Given the description of an element on the screen output the (x, y) to click on. 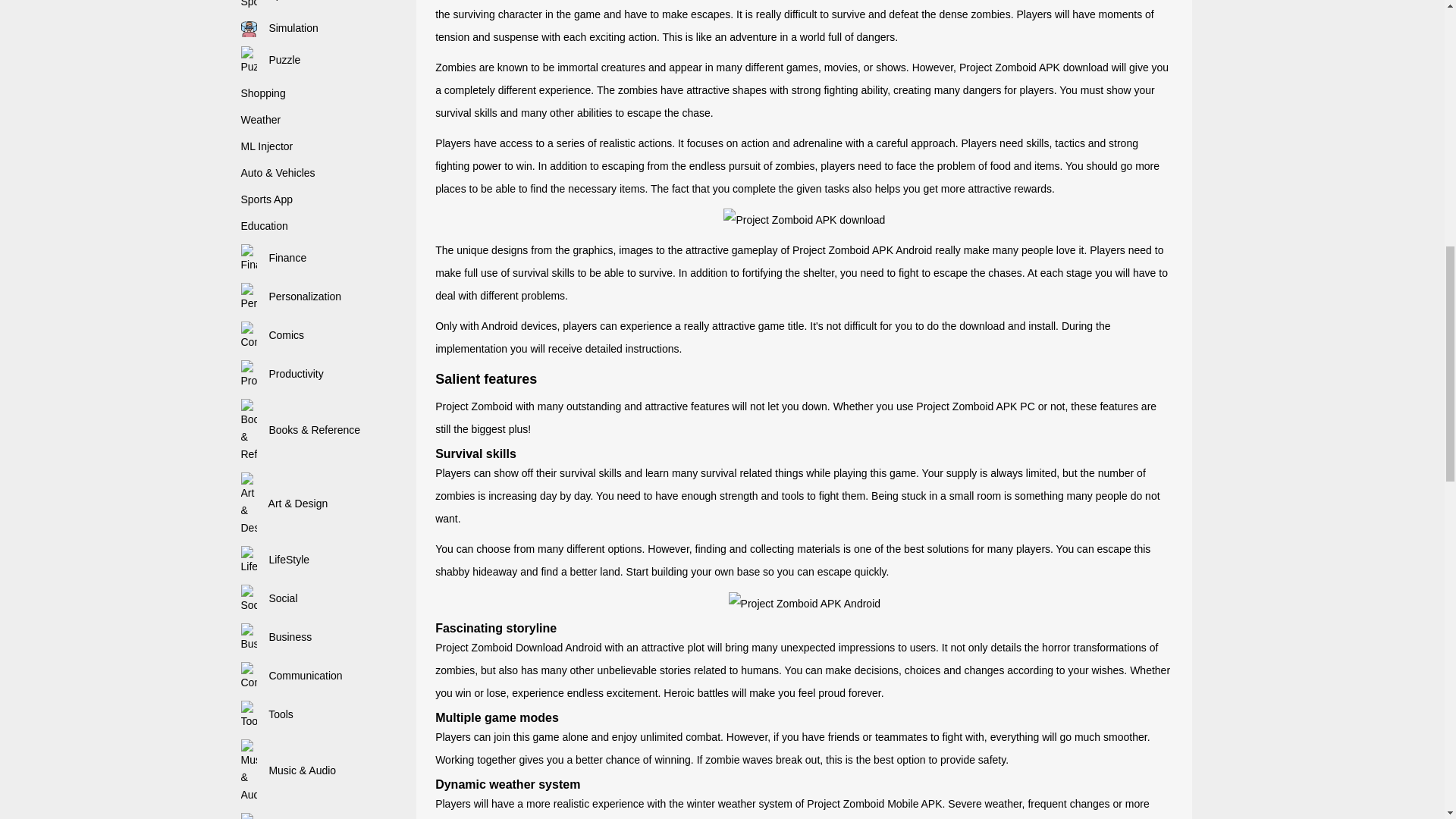
Sports App (267, 199)
Personalization (291, 296)
Finance (274, 257)
Education (264, 225)
Comics (272, 335)
Simulation (279, 28)
Sports (270, 0)
Weather (261, 119)
Puzzle (271, 60)
ML Injector (267, 146)
